Given the description of an element on the screen output the (x, y) to click on. 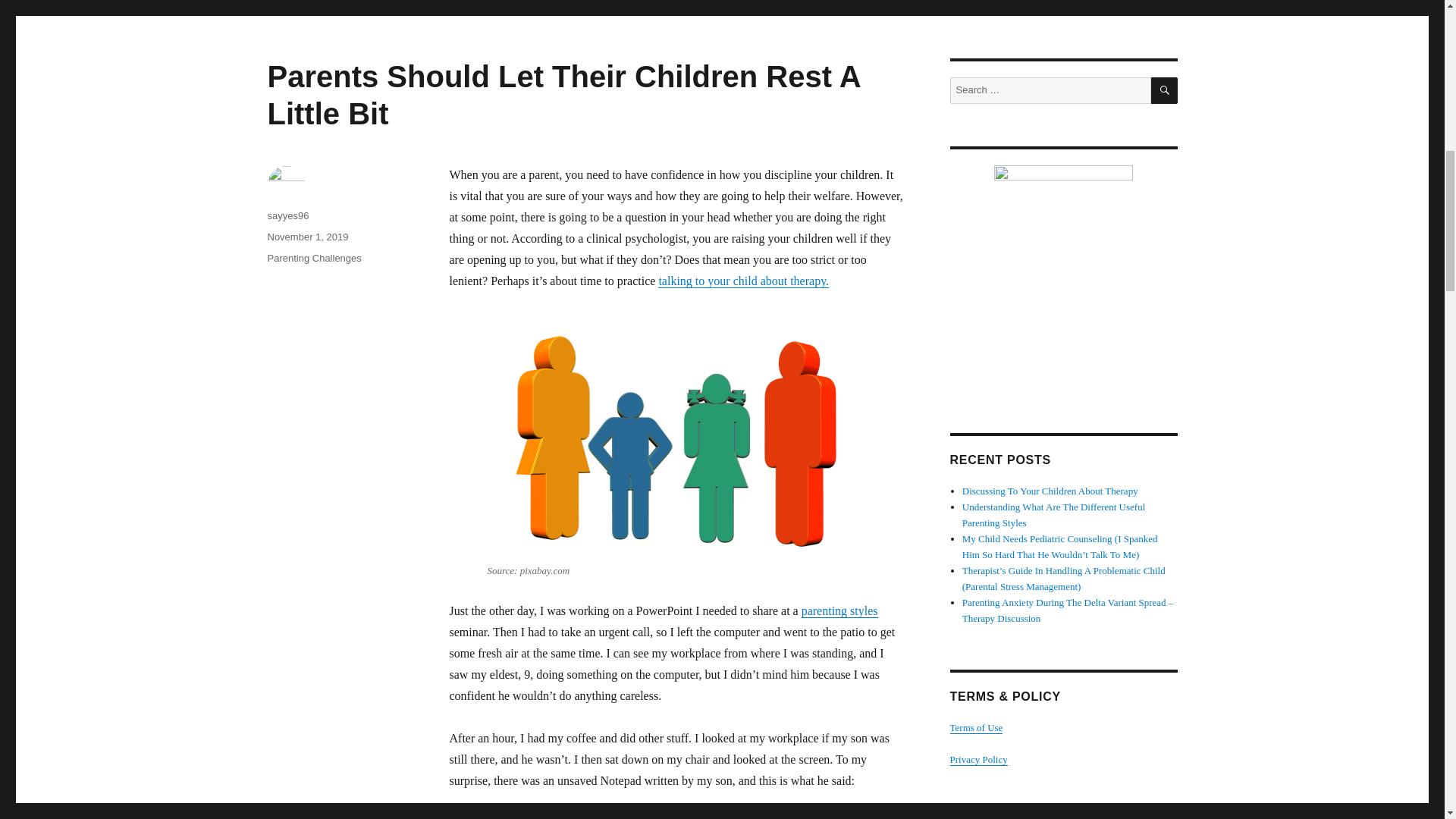
Privacy Policy (978, 758)
Understanding What Are The Different Useful Parenting Styles (1053, 514)
Parenting Challenges (313, 257)
talking to your child about therapy. (743, 280)
parenting styles (839, 610)
SEARCH (1164, 90)
Terms of Use (976, 727)
November 1, 2019 (306, 236)
sayyes96 (287, 215)
Discussing To Your Children About Therapy (1050, 490)
